Given the description of an element on the screen output the (x, y) to click on. 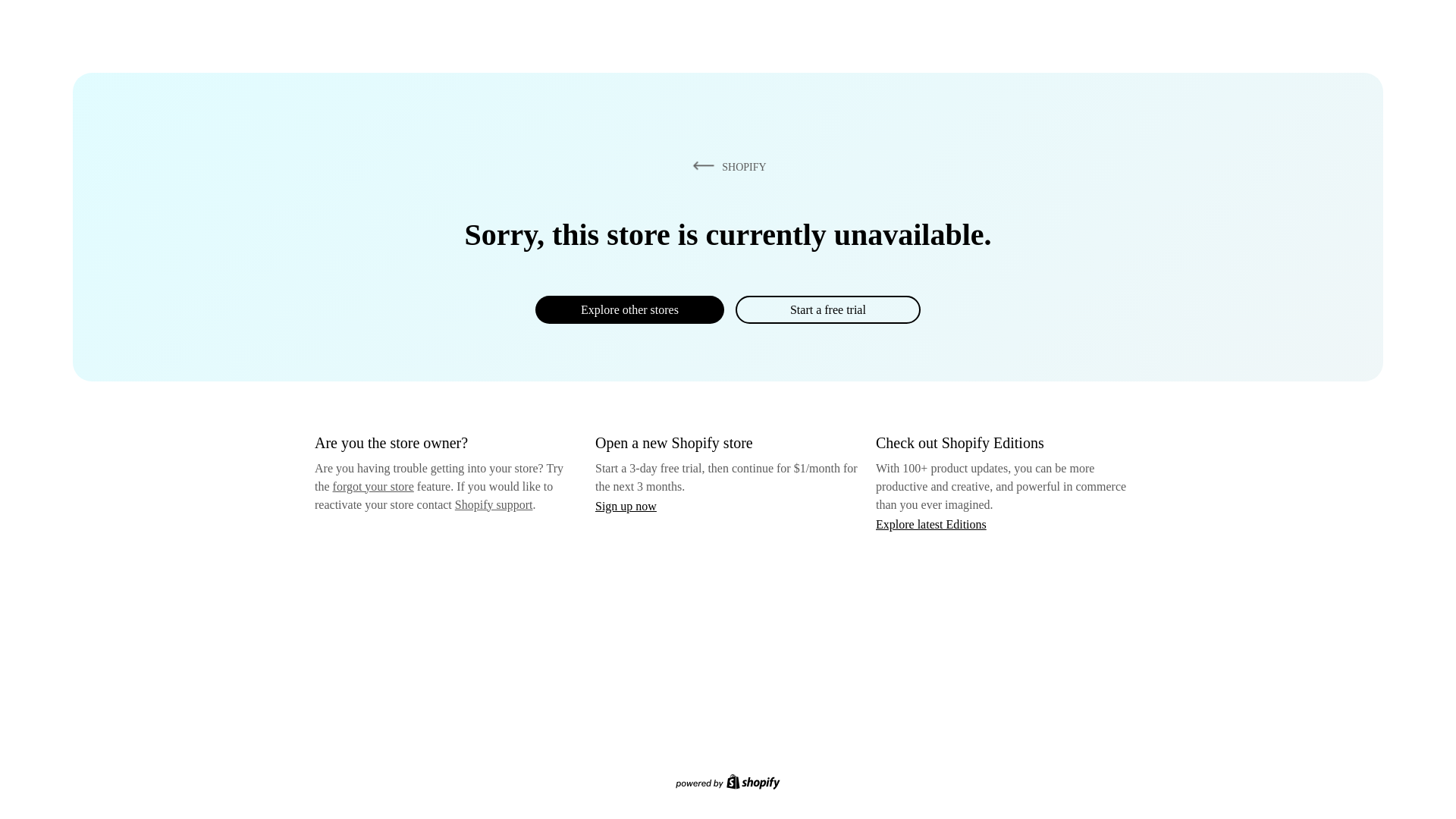
Explore latest Editions (931, 523)
Shopify support (493, 504)
forgot your store (373, 486)
SHOPIFY (726, 166)
Explore other stores (629, 309)
Start a free trial (827, 309)
Sign up now (625, 505)
